Given the description of an element on the screen output the (x, y) to click on. 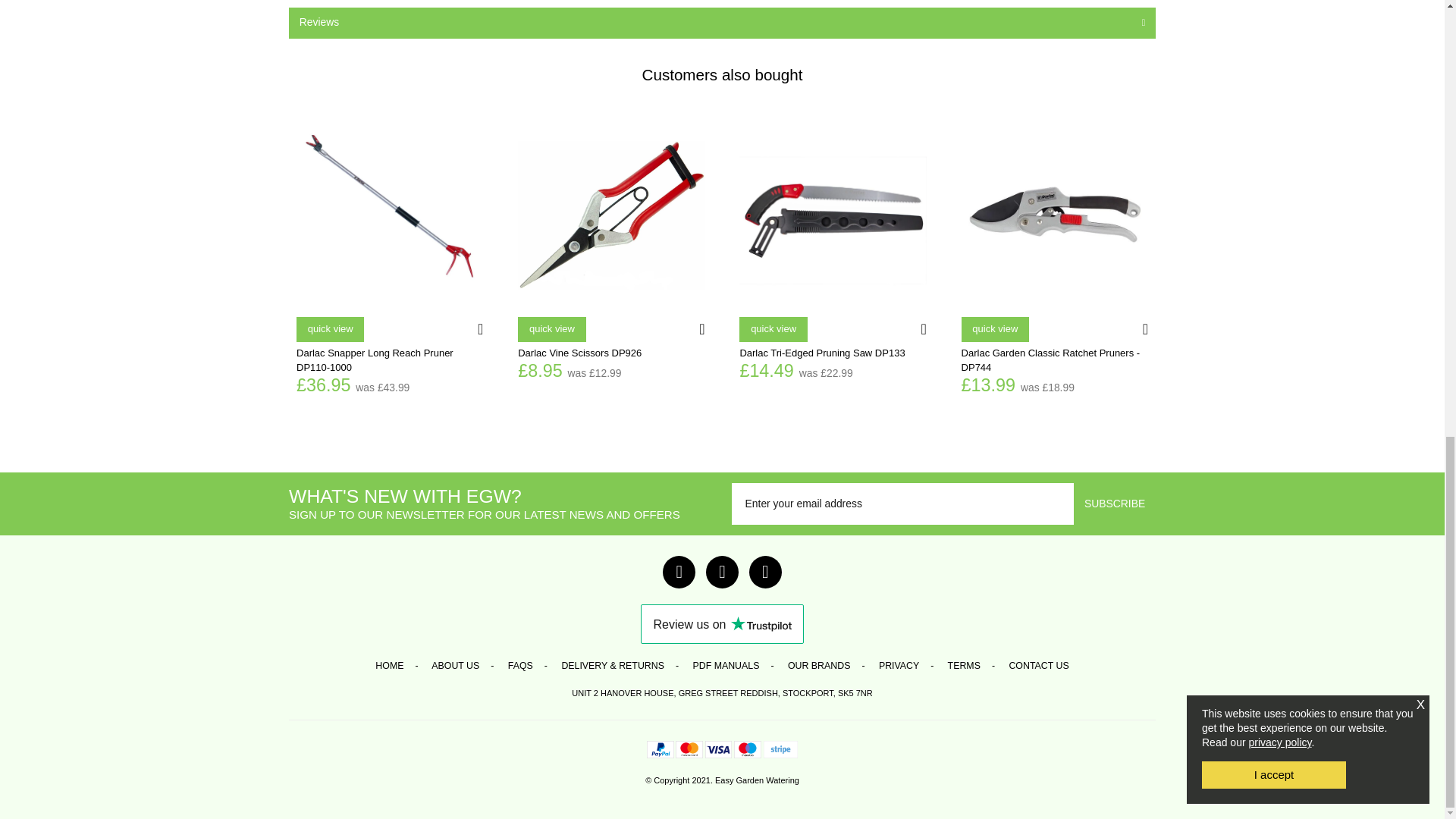
Customer reviews powered by Trustpilot (722, 623)
